Given the description of an element on the screen output the (x, y) to click on. 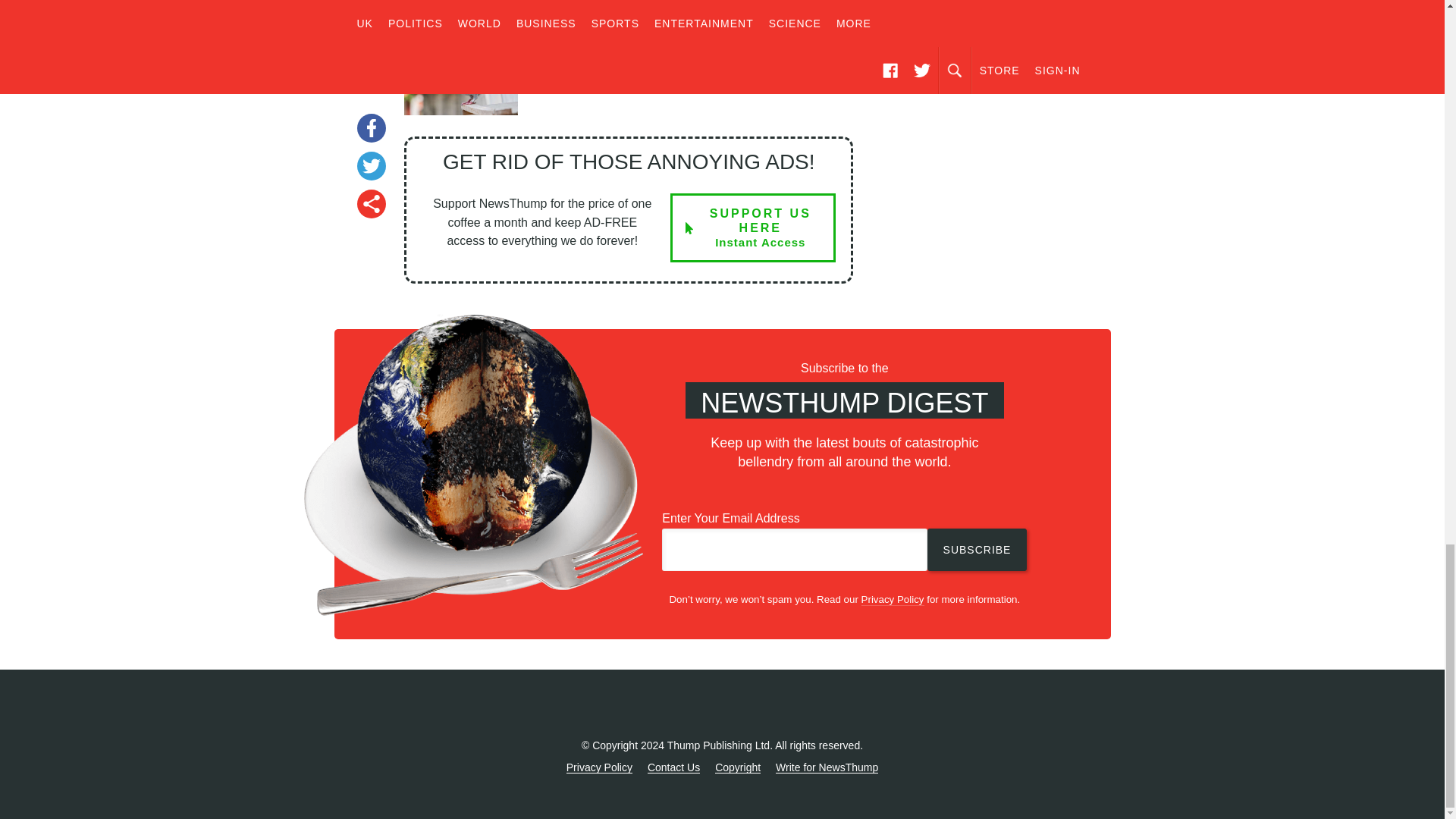
Subscribe (977, 549)
